Given the description of an element on the screen output the (x, y) to click on. 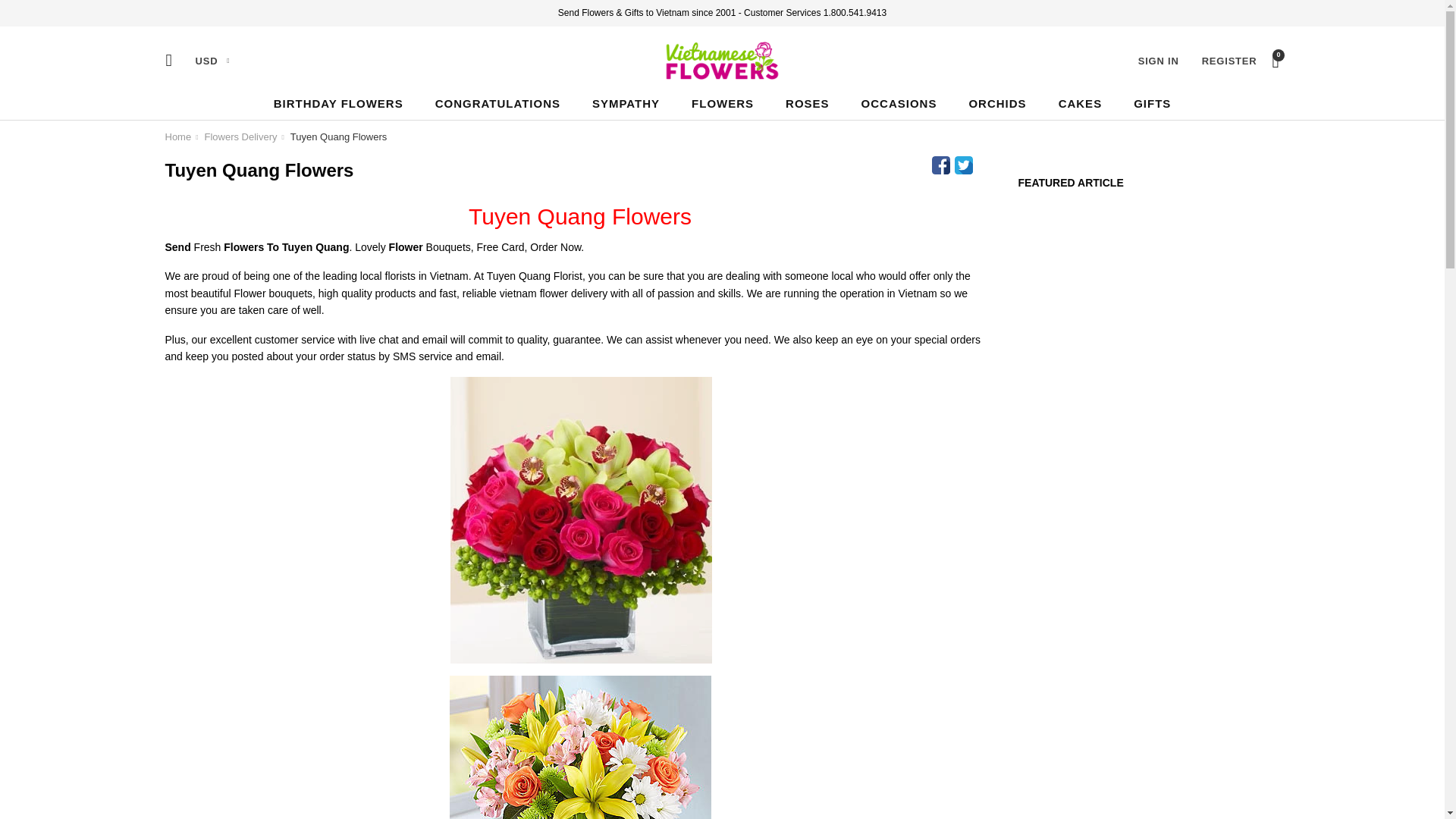
Share on Facebook (940, 165)
FLOWERS (722, 103)
Tuyen Quang Flowers (338, 136)
BIRTHDAY FLOWERS (338, 103)
Tweet on Twitter (962, 165)
SIGN IN (1158, 60)
REGISTER (1229, 60)
Pin on Pinterest (985, 165)
CONGRATULATIONS (497, 103)
SYMPATHY (625, 103)
